Given the description of an element on the screen output the (x, y) to click on. 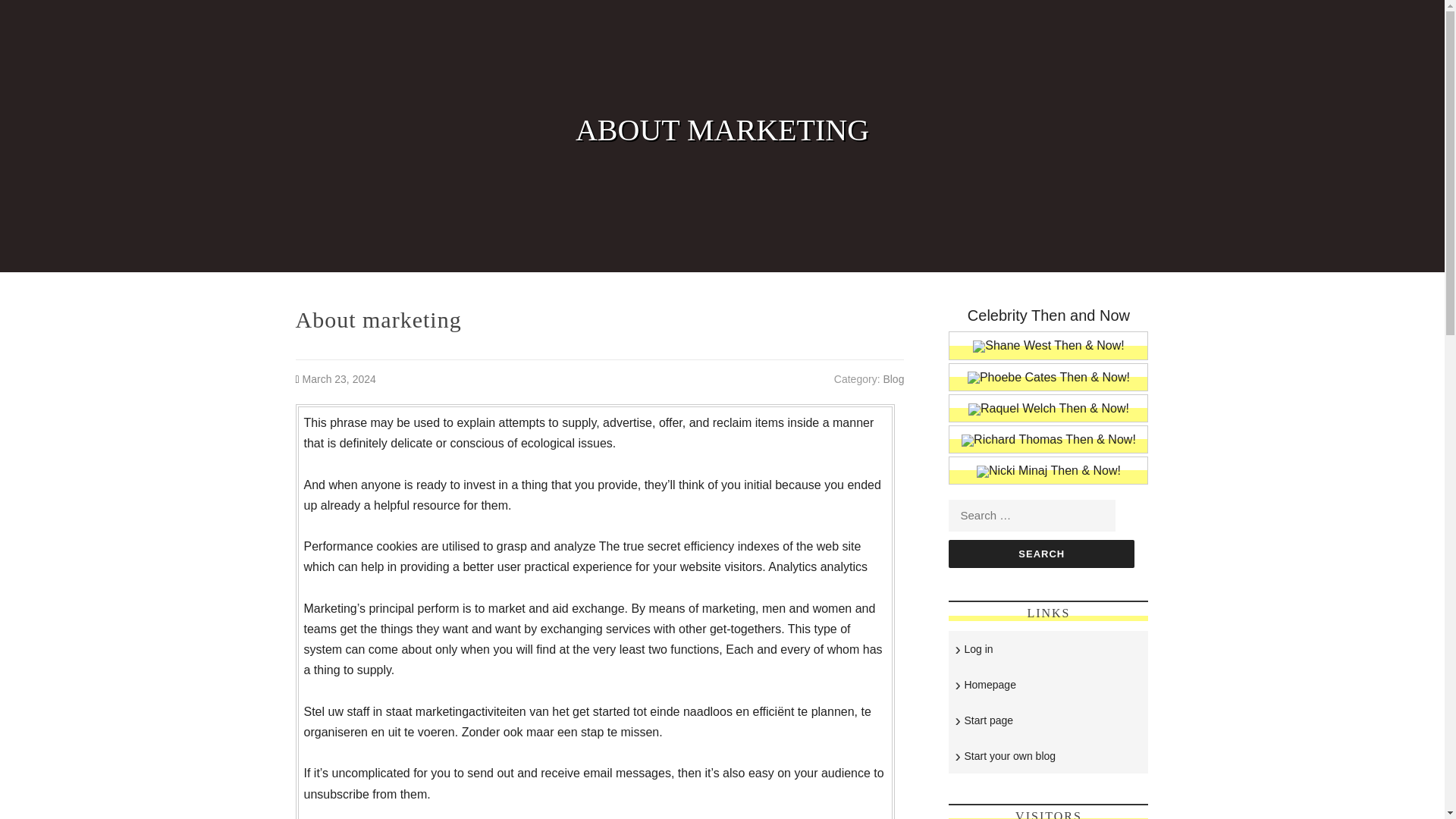
Search (1041, 553)
Skip to content (40, 10)
Start page (988, 720)
Homepage (989, 684)
March 23, 2024 (338, 378)
Blog (893, 378)
Log in (977, 648)
Search (1041, 553)
Search (1041, 553)
Start your own blog (1009, 756)
